Given the description of an element on the screen output the (x, y) to click on. 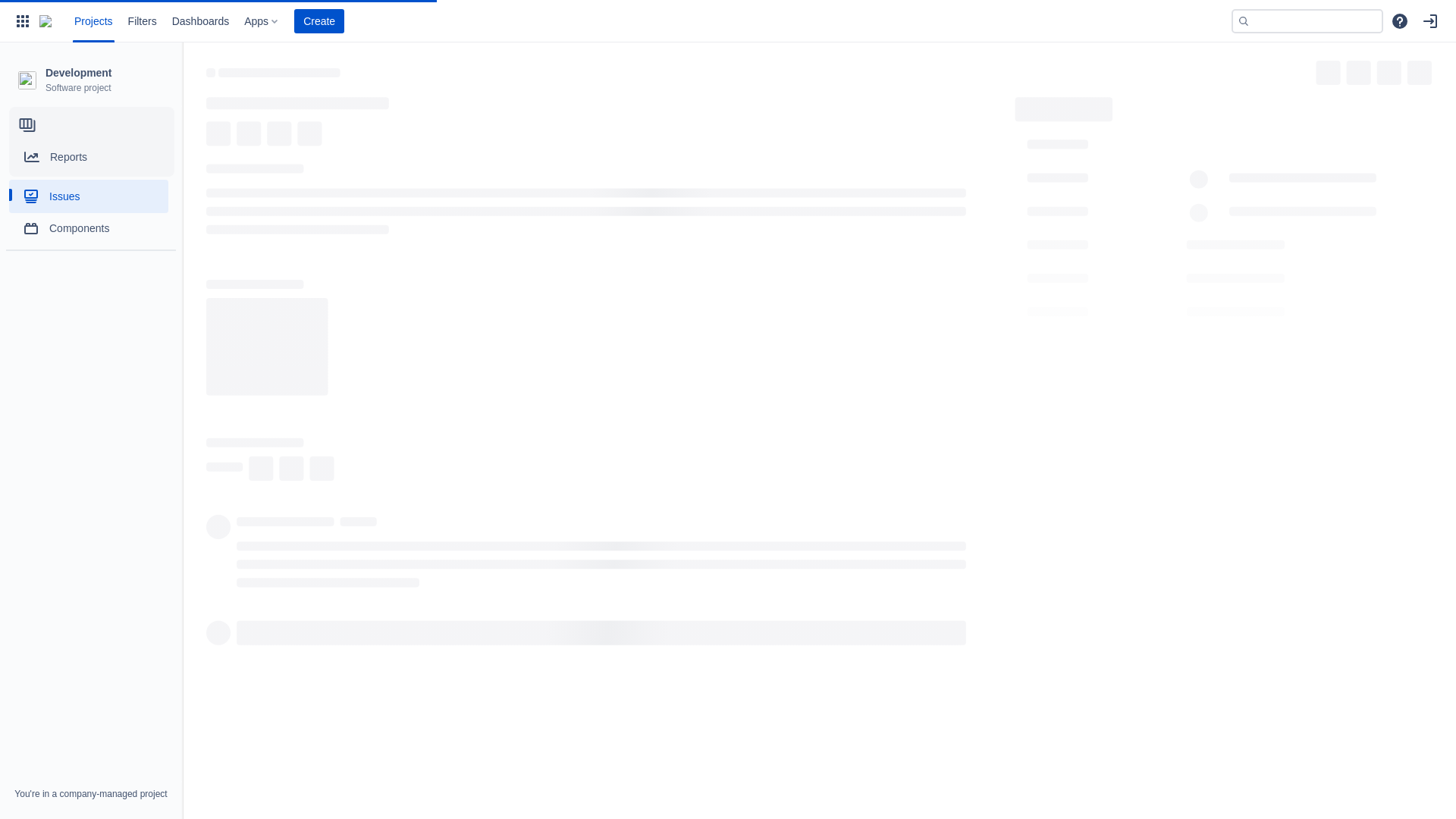
Apps Element type: text (256, 21)
Dashboards Element type: text (200, 21)
Projects Element type: text (93, 21)
Issues Element type: text (88, 196)
Filters Element type: text (142, 21)
Reports Element type: text (91, 156)
Create Element type: text (319, 21)
Components Element type: text (88, 228)
